Given the description of an element on the screen output the (x, y) to click on. 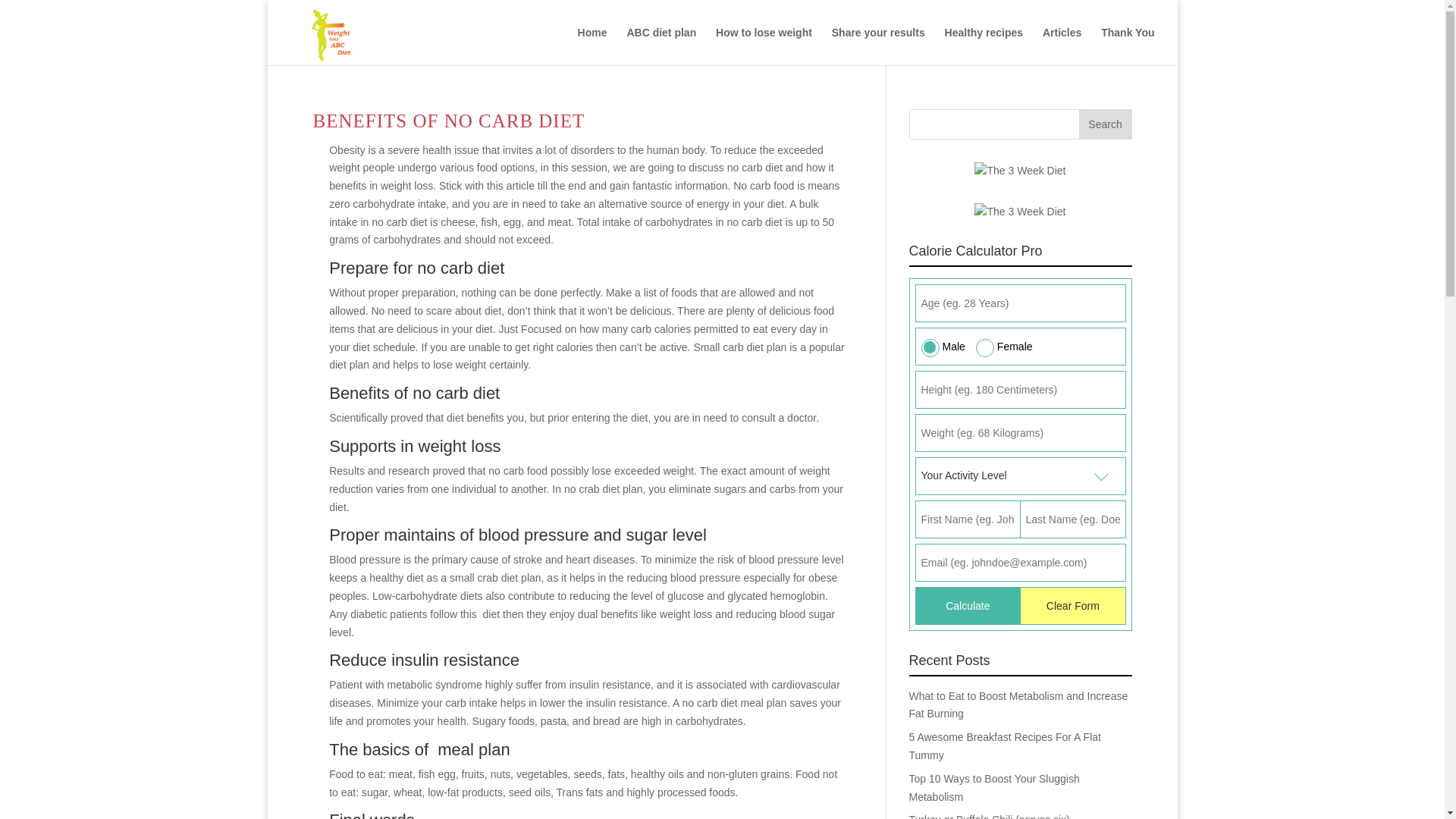
Calculate (967, 605)
Search (1104, 123)
Calculate (967, 605)
Search (1104, 123)
5 Awesome Breakfast Recipes For A Flat Tummy (1004, 746)
What to Eat to Boost Metabolism and Increase Fat Burning (1017, 705)
Top 10 Ways to Boost Your Sluggish Metabolism (993, 788)
Healthy recipes (983, 46)
Articles (1061, 46)
ABC diet plan (660, 46)
